Given the description of an element on the screen output the (x, y) to click on. 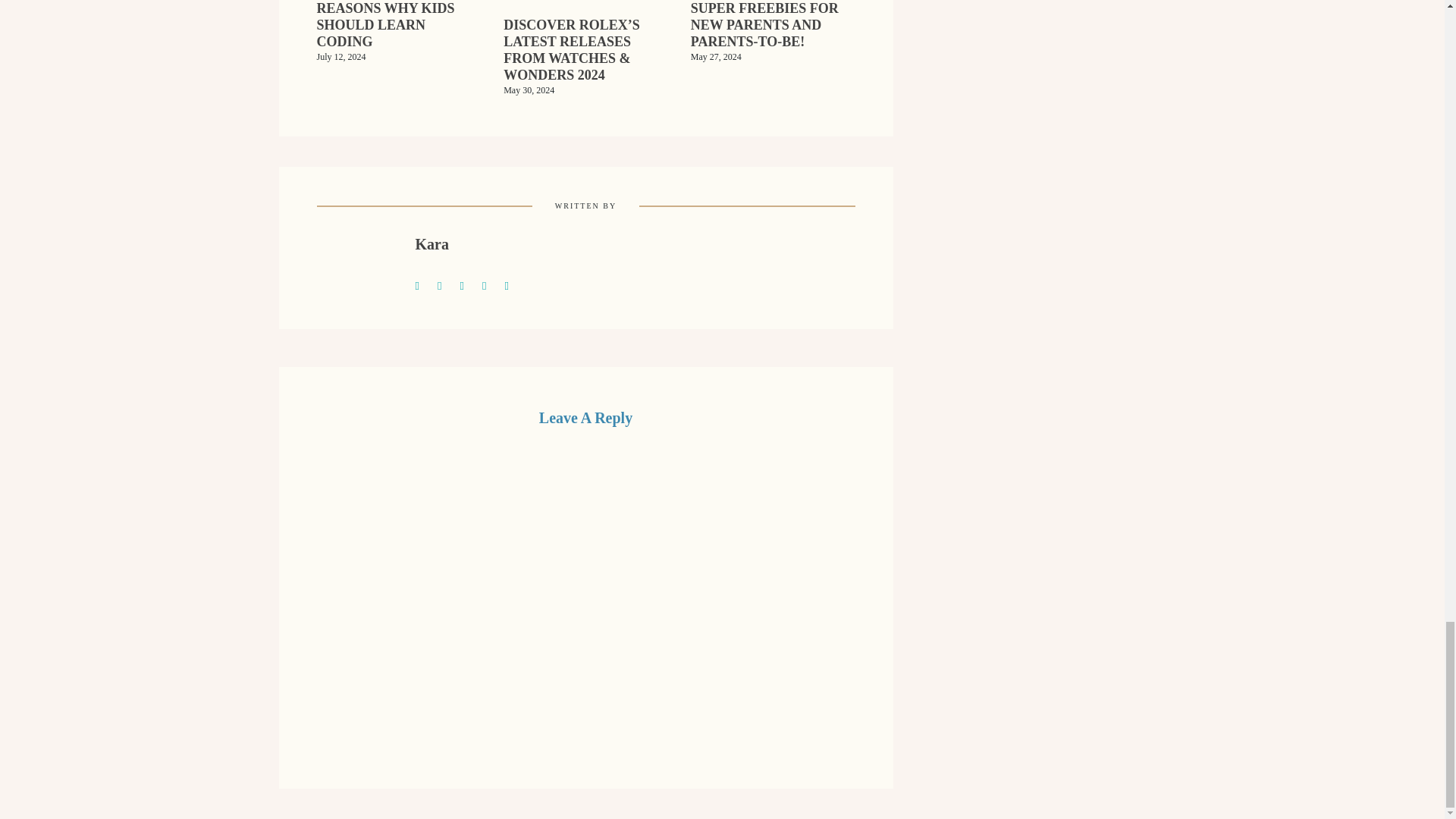
Super Freebies For New Parents And Parents-To-Be! (773, 35)
The Definitive Guide to Seamless Activewear (446, 283)
